Given the description of an element on the screen output the (x, y) to click on. 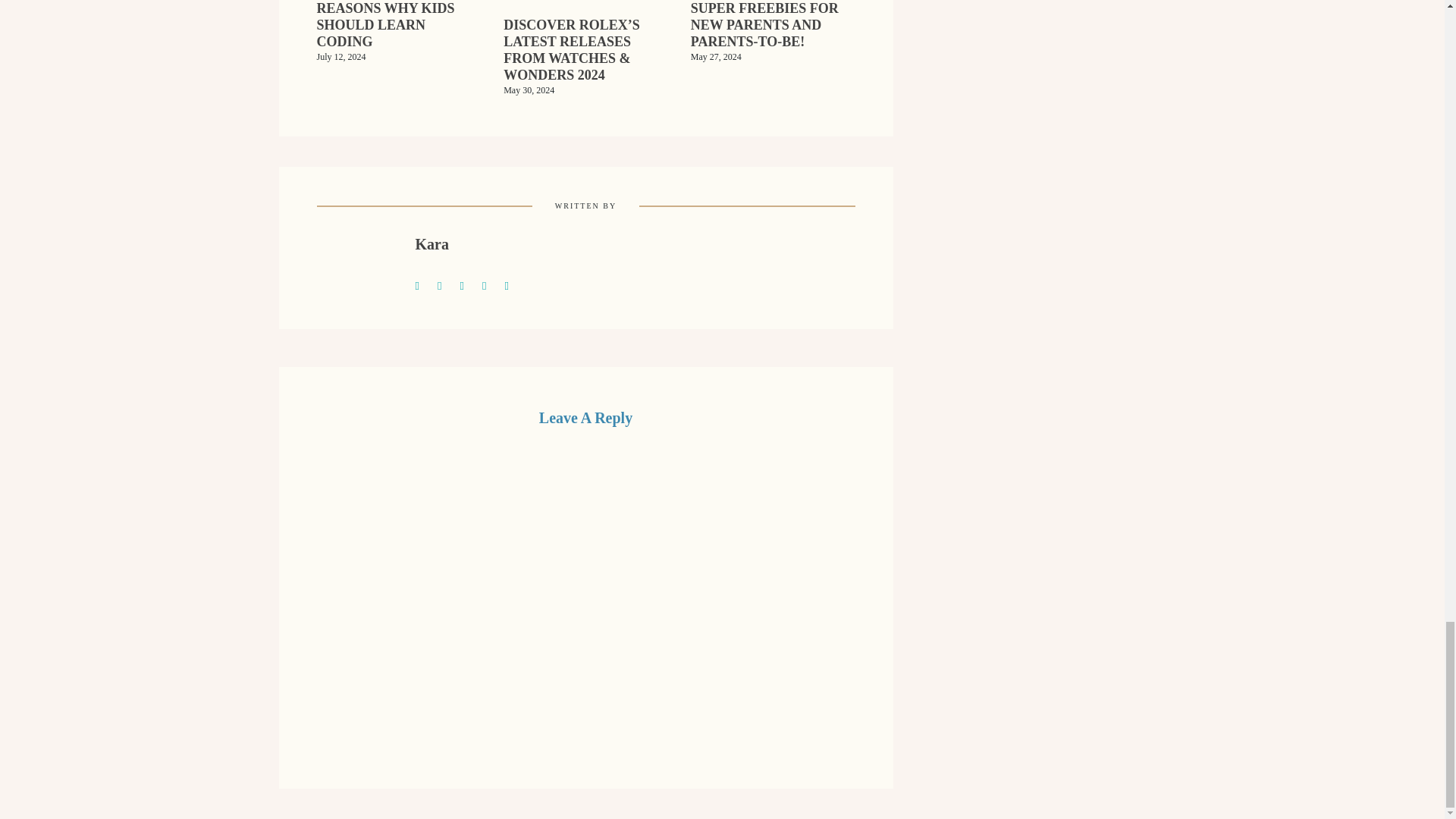
Super Freebies For New Parents And Parents-To-Be! (773, 35)
The Definitive Guide to Seamless Activewear (446, 283)
